Given the description of an element on the screen output the (x, y) to click on. 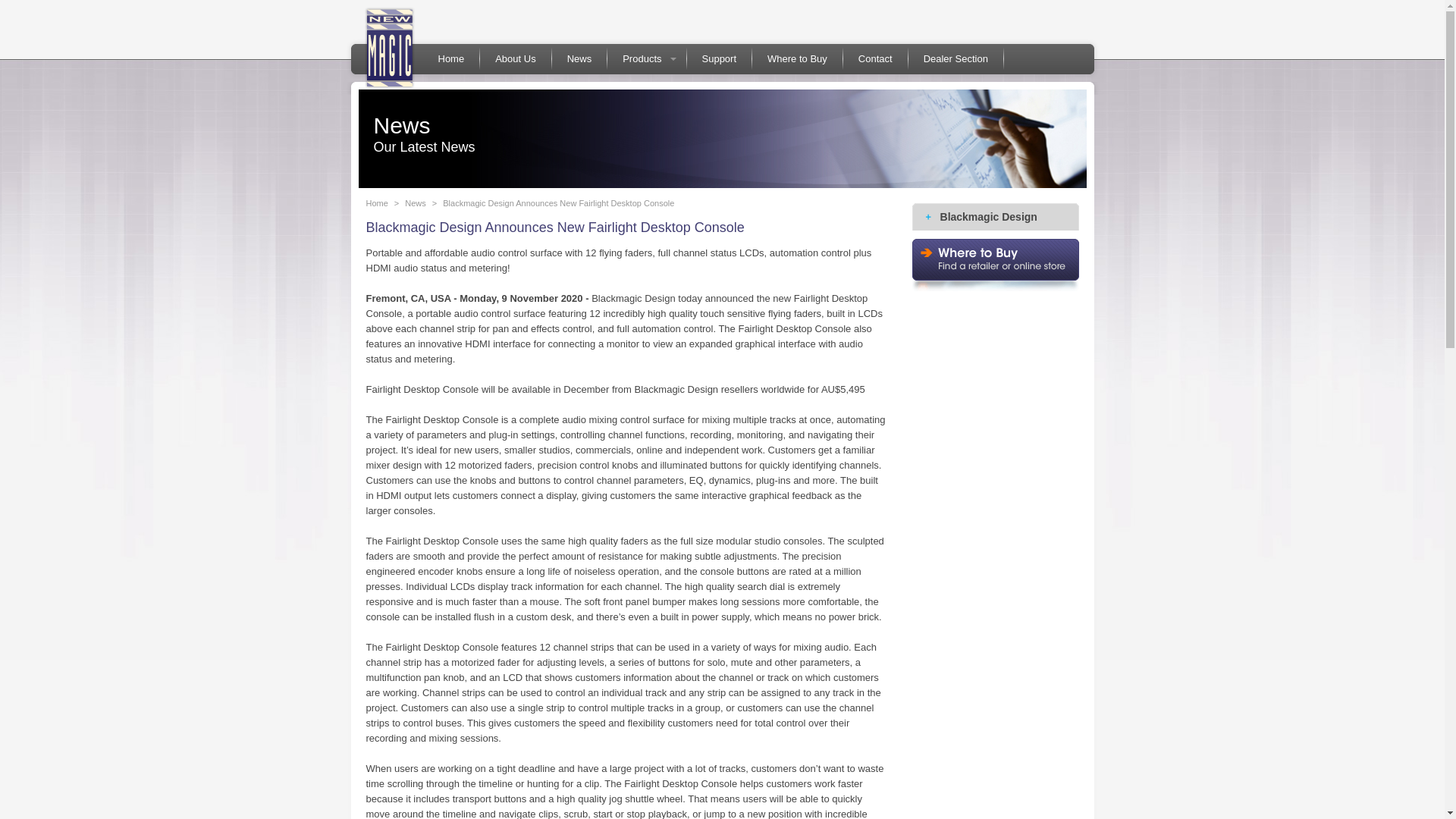
Support Element type: text (719, 58)
Home Element type: text (376, 202)
About Us Element type: text (515, 58)
Blackmagic Design Element type: text (995, 216)
Dealer Section Element type: text (955, 58)
News Element type: text (579, 58)
Products Element type: text (646, 58)
Where to Buy Element type: text (797, 58)
Contact Element type: text (875, 58)
News Element type: text (415, 202)
Home Element type: text (451, 58)
